Given the description of an element on the screen output the (x, y) to click on. 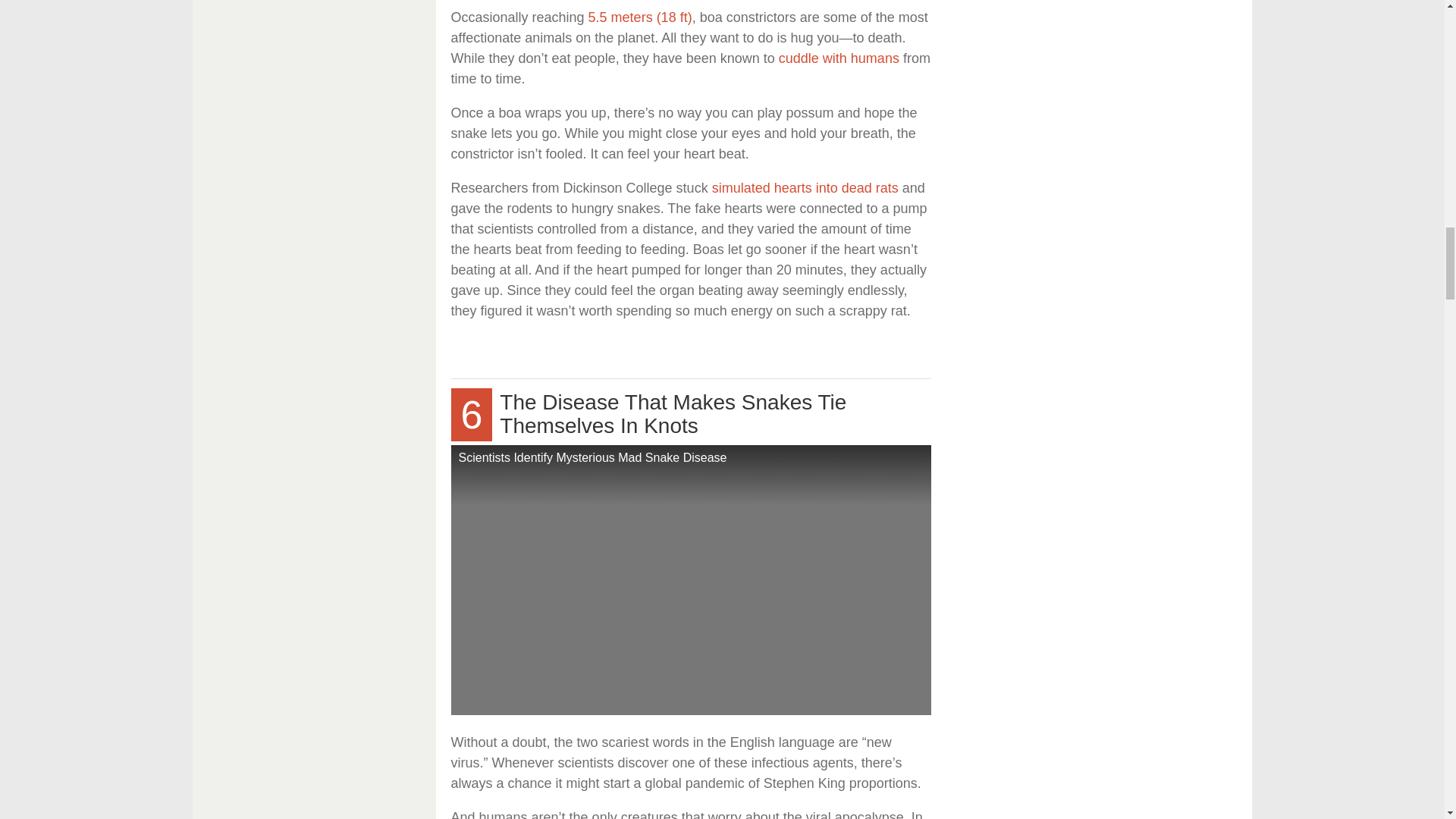
Scientists Identify Mysterious Mad Snake Disease (689, 579)
